Given the description of an element on the screen output the (x, y) to click on. 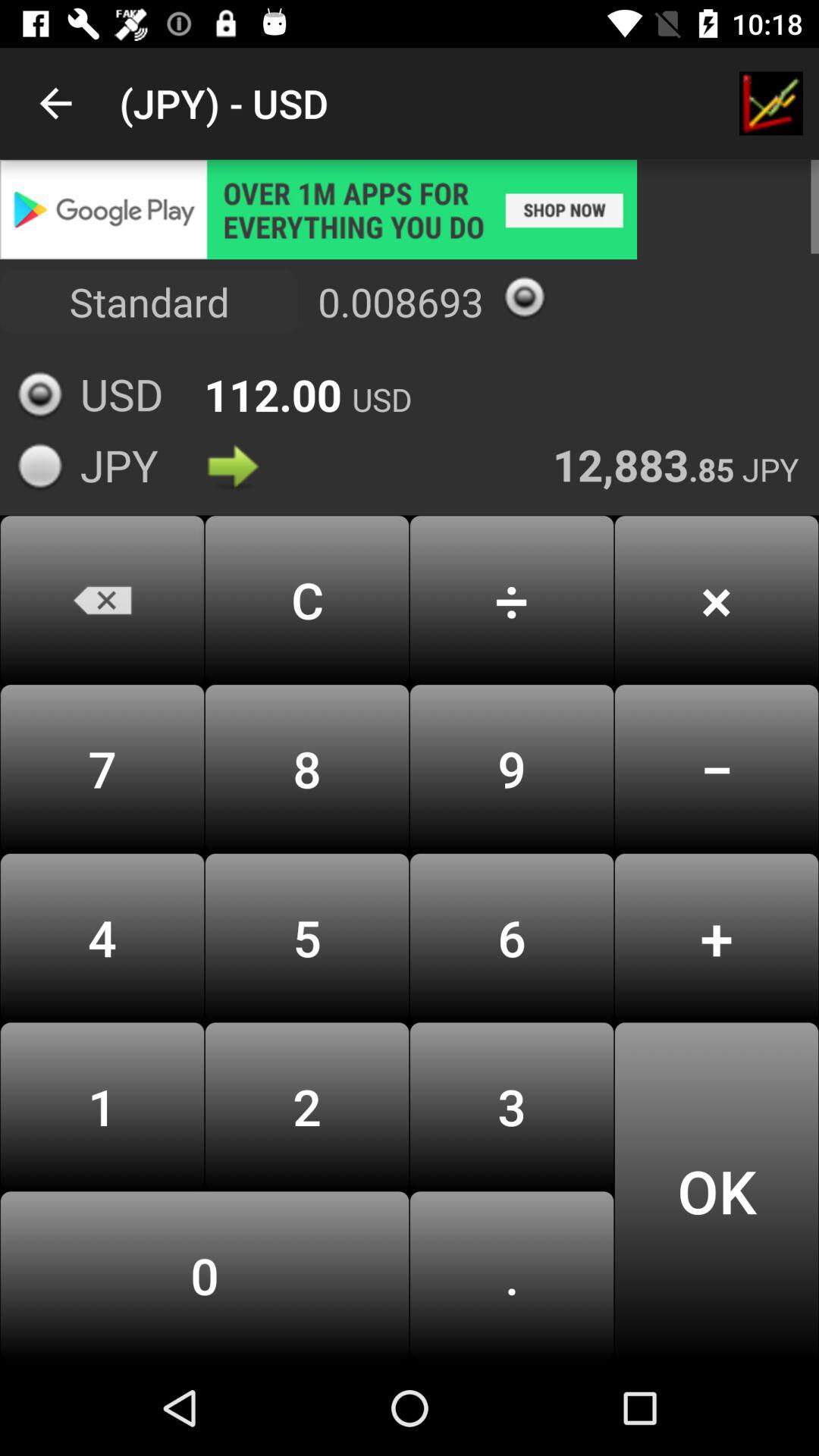
click on number 8 in the calculator tool (306, 768)
